Given the description of an element on the screen output the (x, y) to click on. 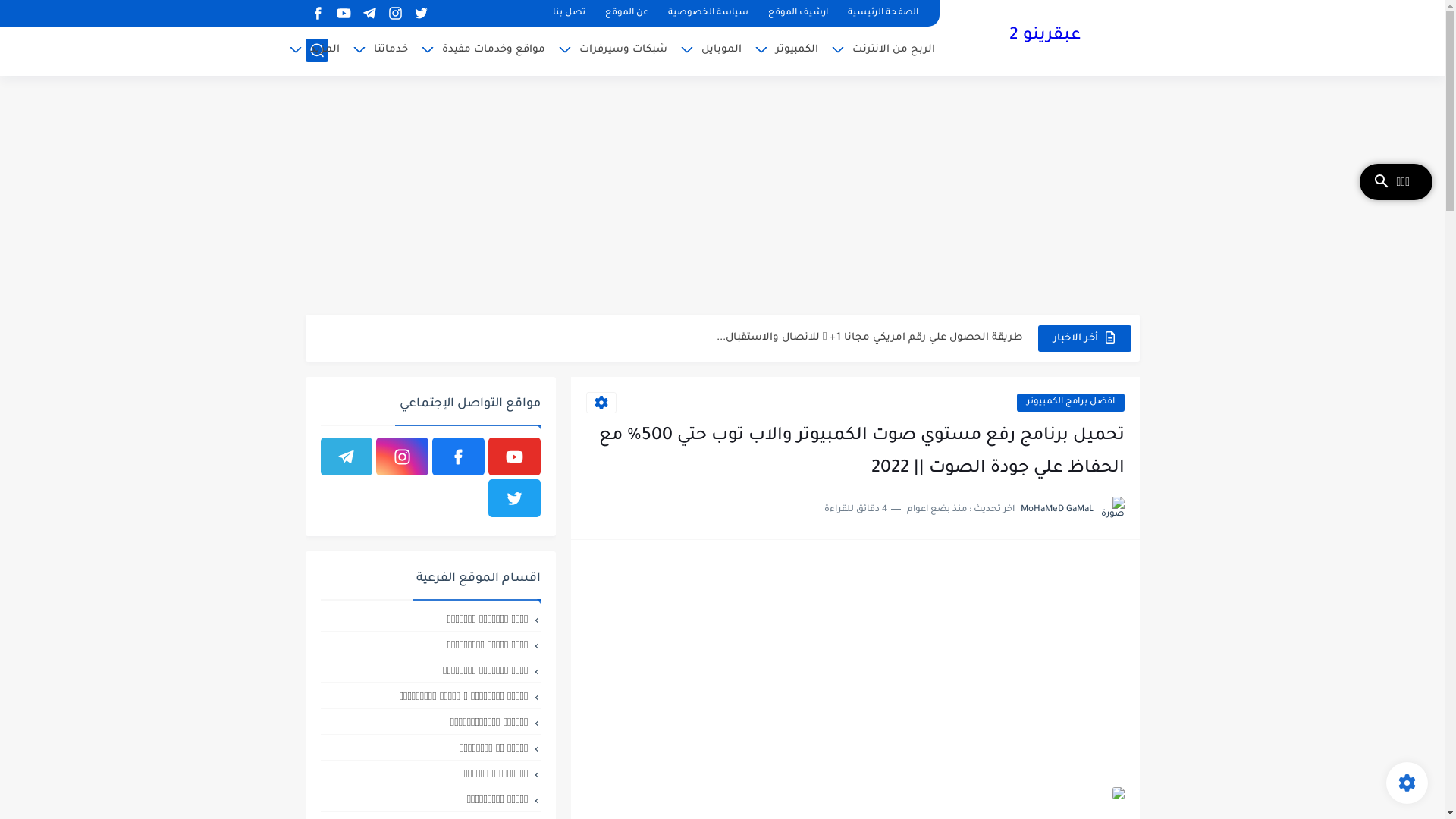
twitter Element type: hover (514, 498)
telegram Element type: hover (369, 13)
Advertisement Element type: hover (721, 197)
youtube Element type: hover (344, 13)
youtube Element type: hover (514, 456)
instagram Element type: hover (402, 456)
Advertisement Element type: hover (854, 661)
instagram Element type: hover (395, 13)
facebook Element type: hover (318, 13)
twitter Element type: hover (421, 13)
facebook Element type: hover (458, 456)
telegram Element type: hover (346, 456)
